Given the description of an element on the screen output the (x, y) to click on. 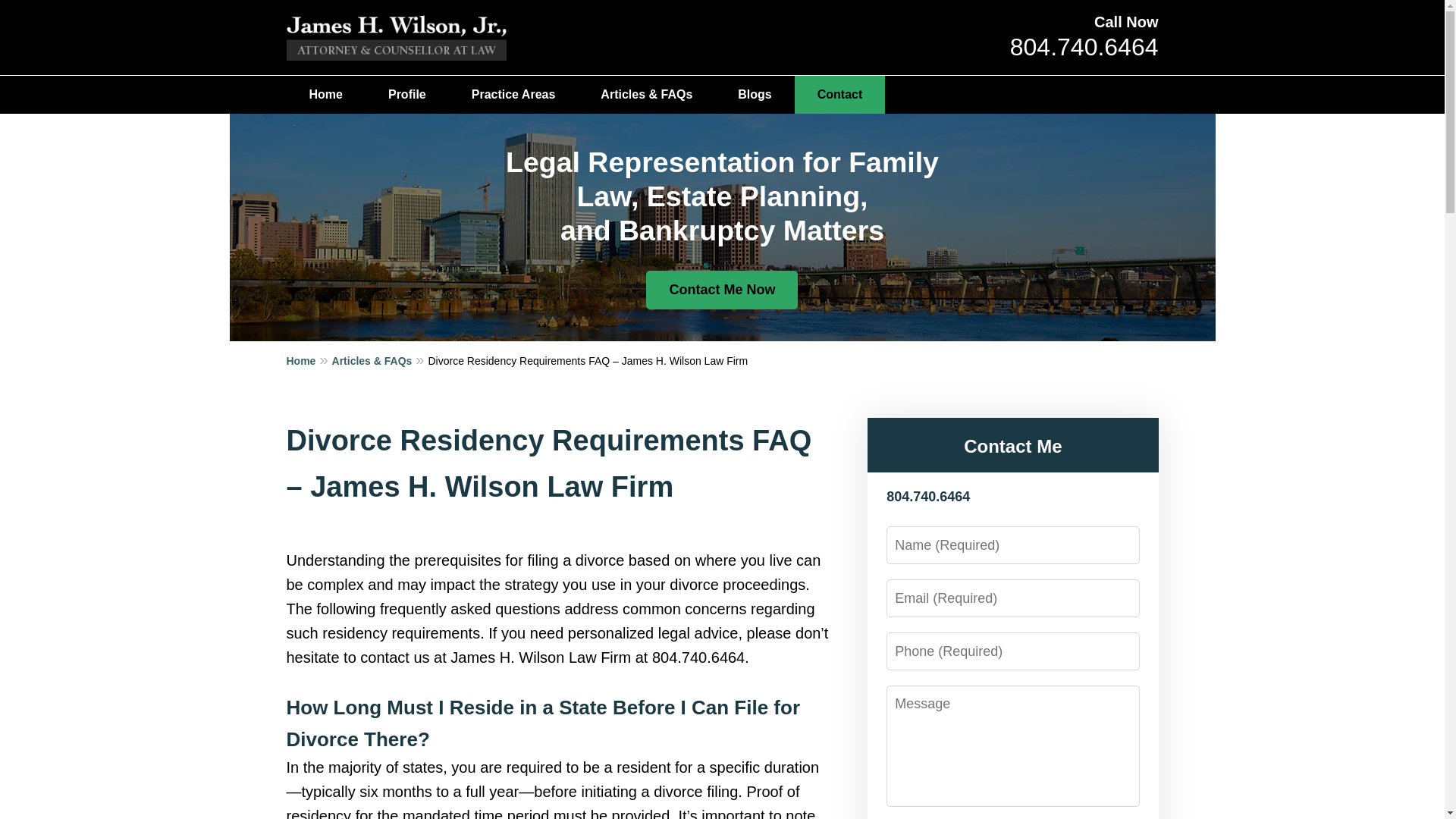
Blogs (753, 94)
804.740.6464 (1084, 46)
Call Now (1125, 21)
Practice Areas (513, 94)
Home (325, 94)
Profile (406, 94)
Home (308, 360)
Contact Me Now (721, 290)
Contact (839, 94)
